Given the description of an element on the screen output the (x, y) to click on. 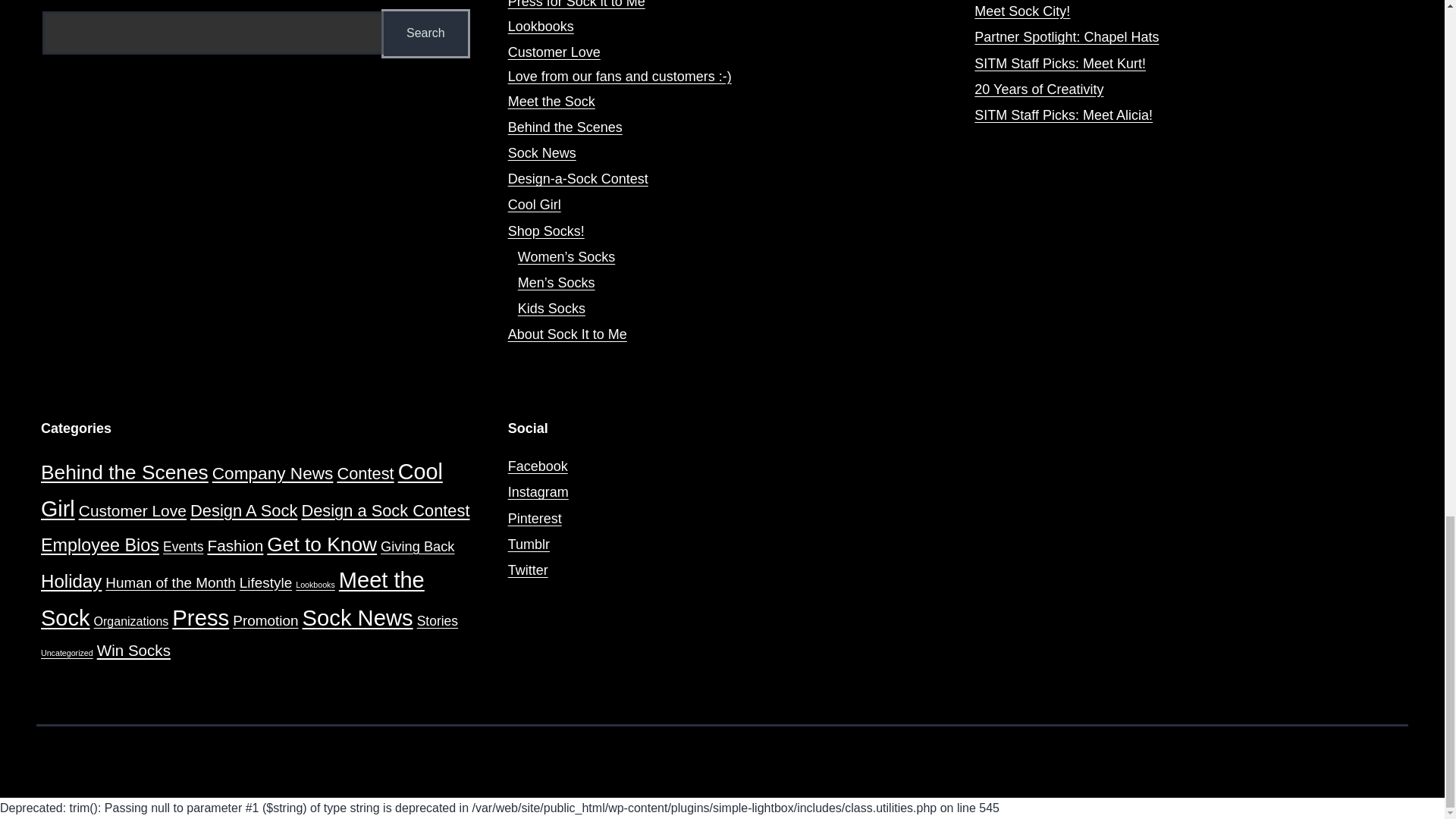
About Sock It to Me (567, 334)
Design-a-Sock Contest (577, 178)
20 Years of Creativity (1038, 89)
Search (425, 33)
Behind the Scenes (124, 472)
Follow us on Instagram for shenanigans and general coolness. (538, 491)
Search (425, 33)
Events (183, 546)
Cool Girl (534, 204)
Cool Girl (241, 489)
Follow our pins for fashion inspiration! (535, 518)
Kids Socks (551, 308)
Sock News (542, 152)
Partner Spotlight: Chapel Hats (1066, 37)
Contest (364, 473)
